Given the description of an element on the screen output the (x, y) to click on. 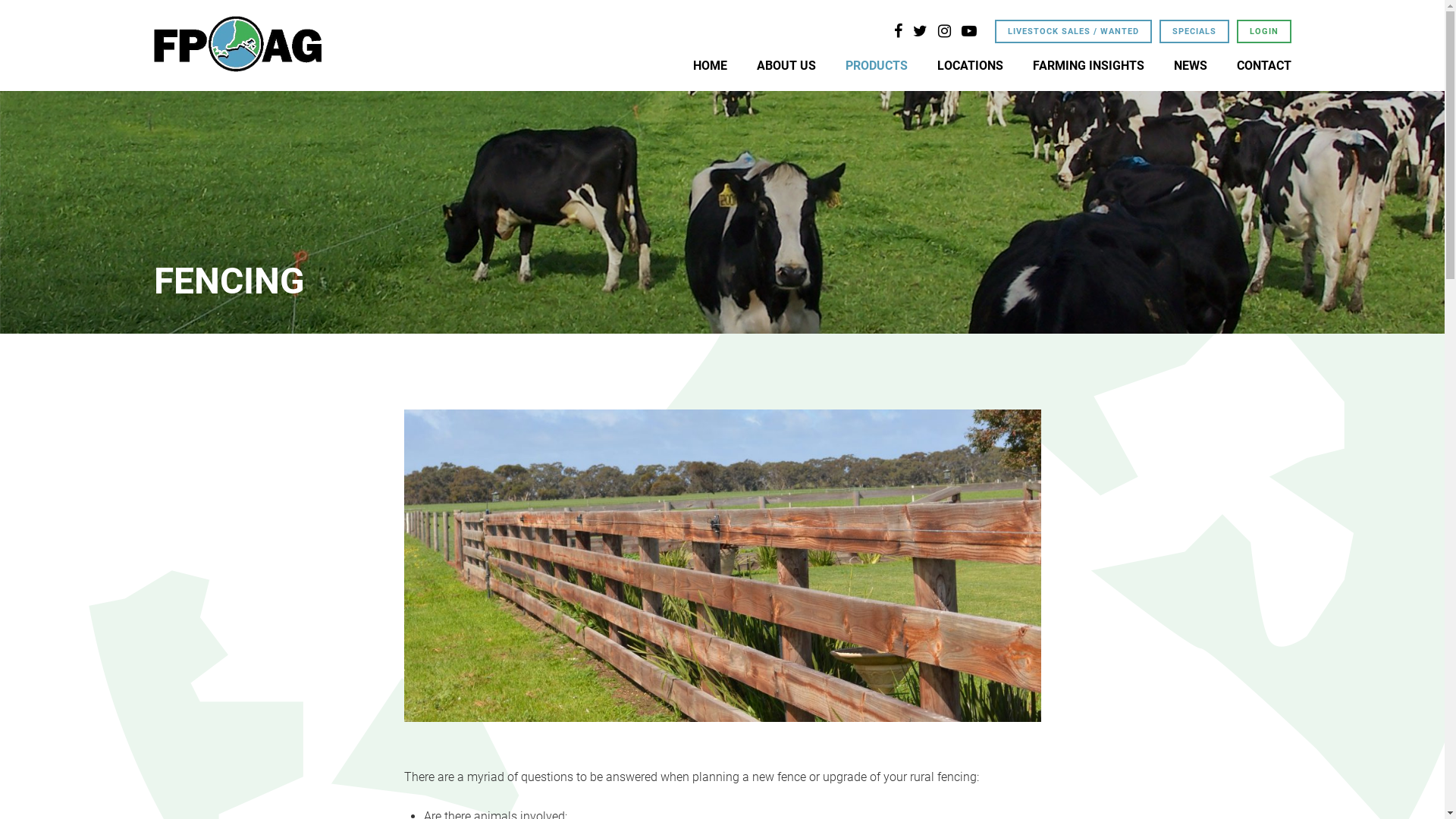
NEWS Element type: text (1190, 65)
LOCATIONS Element type: text (970, 65)
SPECIALS Element type: text (1193, 31)
ABOUT US Element type: text (785, 65)
CONTACT Element type: text (1263, 65)
LOGIN Element type: text (1263, 31)
HOME Element type: text (710, 65)
PRODUCTS Element type: text (875, 65)
FARMING INSIGHTS Element type: text (1088, 65)
LIVESTOCK SALES / WANTED Element type: text (1072, 31)
